Given the description of an element on the screen output the (x, y) to click on. 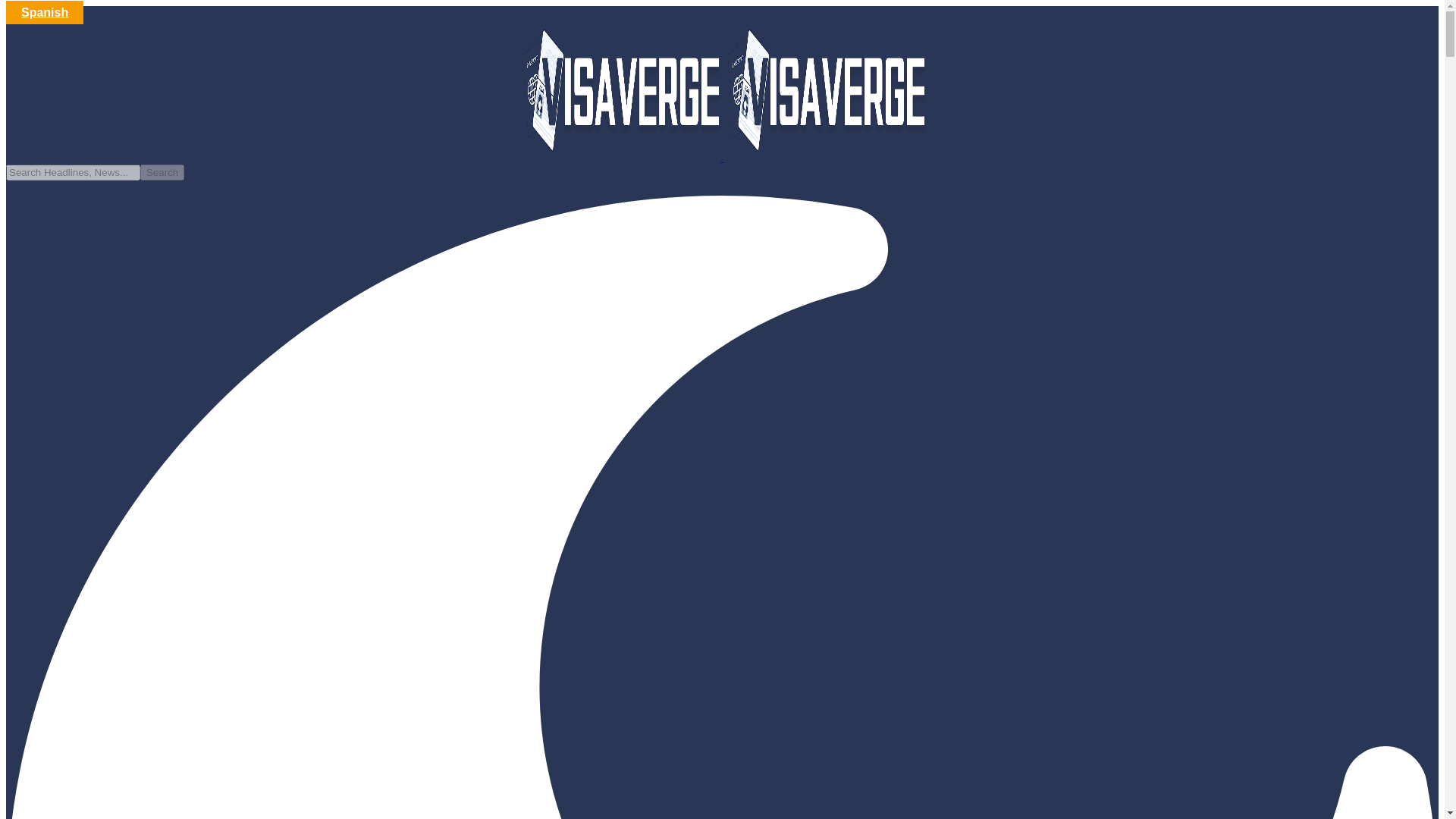
Search (161, 172)
Spanish (43, 12)
Search (161, 172)
